Given the description of an element on the screen output the (x, y) to click on. 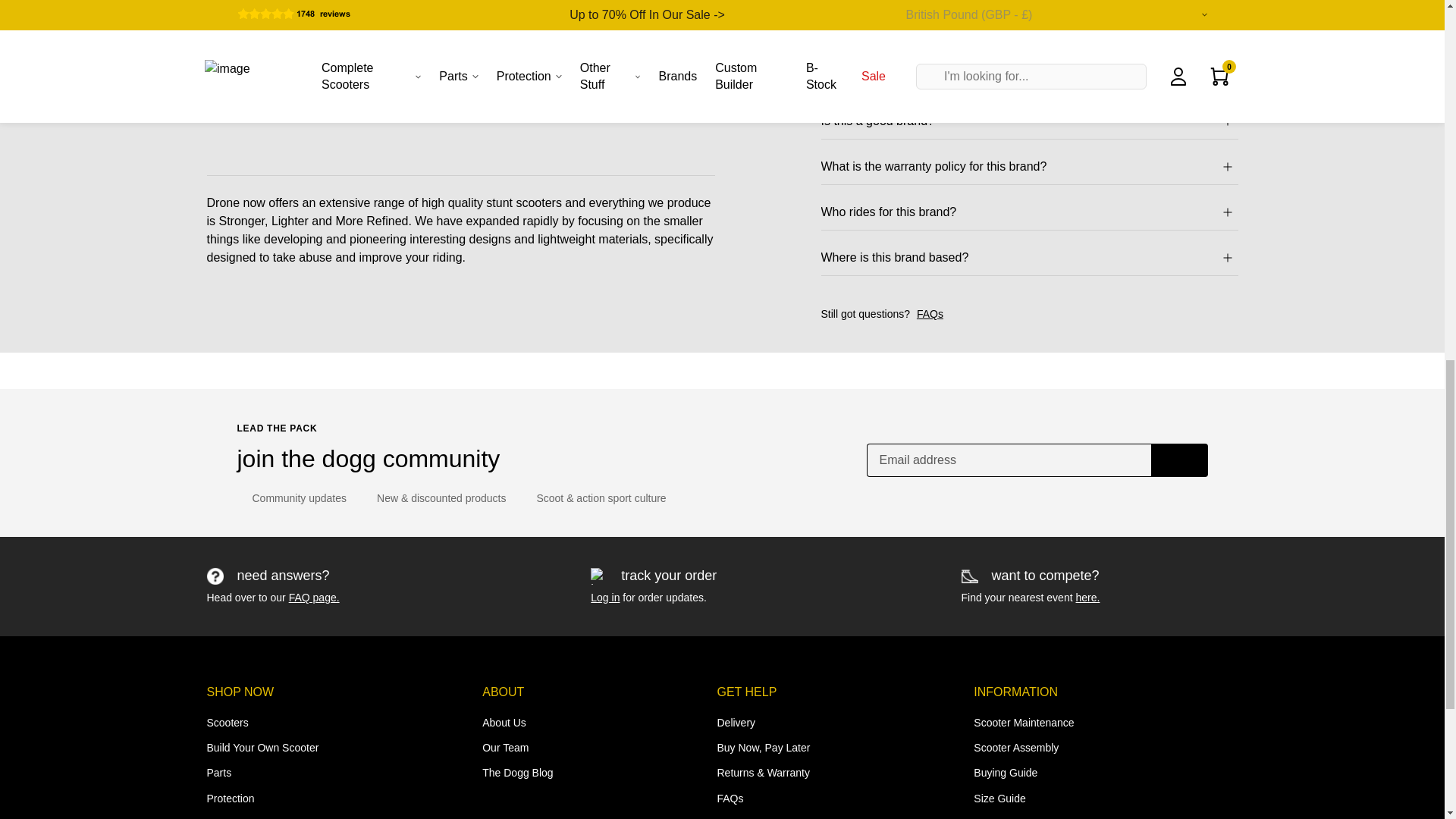
Dogg Branded Tee - Black (590, 256)
Dogg Shadow Hoodie - Black (326, 256)
Dogg Scooters Multi Tool (1118, 410)
Dogg Scooters Multi Tool (1118, 256)
Dogg Branded Tee - Black (590, 410)
Dogg Shadow Hoodie - Black (326, 410)
FAQ Overview (313, 597)
